Given the description of an element on the screen output the (x, y) to click on. 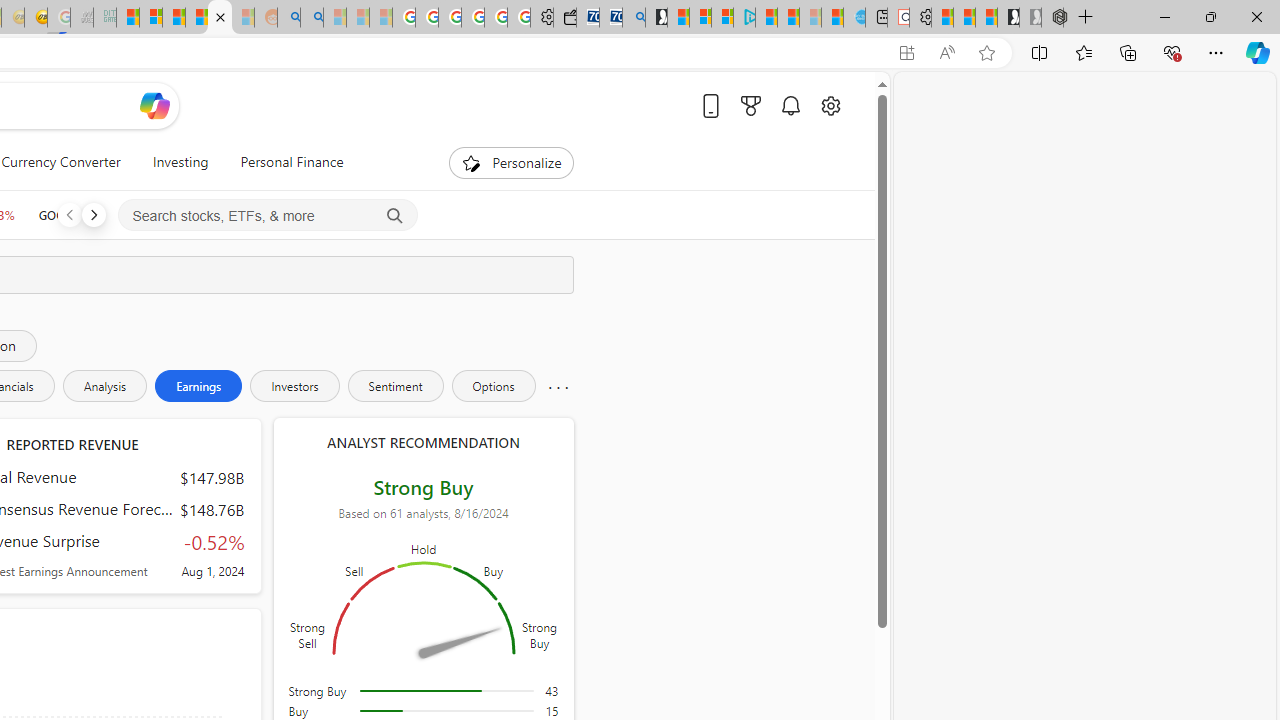
Currency Converter (61, 162)
Personalize (511, 162)
Options (493, 385)
Navy Quest (81, 17)
Bing Real Estate - Home sales and rental listings (634, 17)
Student Loan Update: Forgiveness Program Ends This Month (196, 17)
Analysis (104, 385)
